Given the description of an element on the screen output the (x, y) to click on. 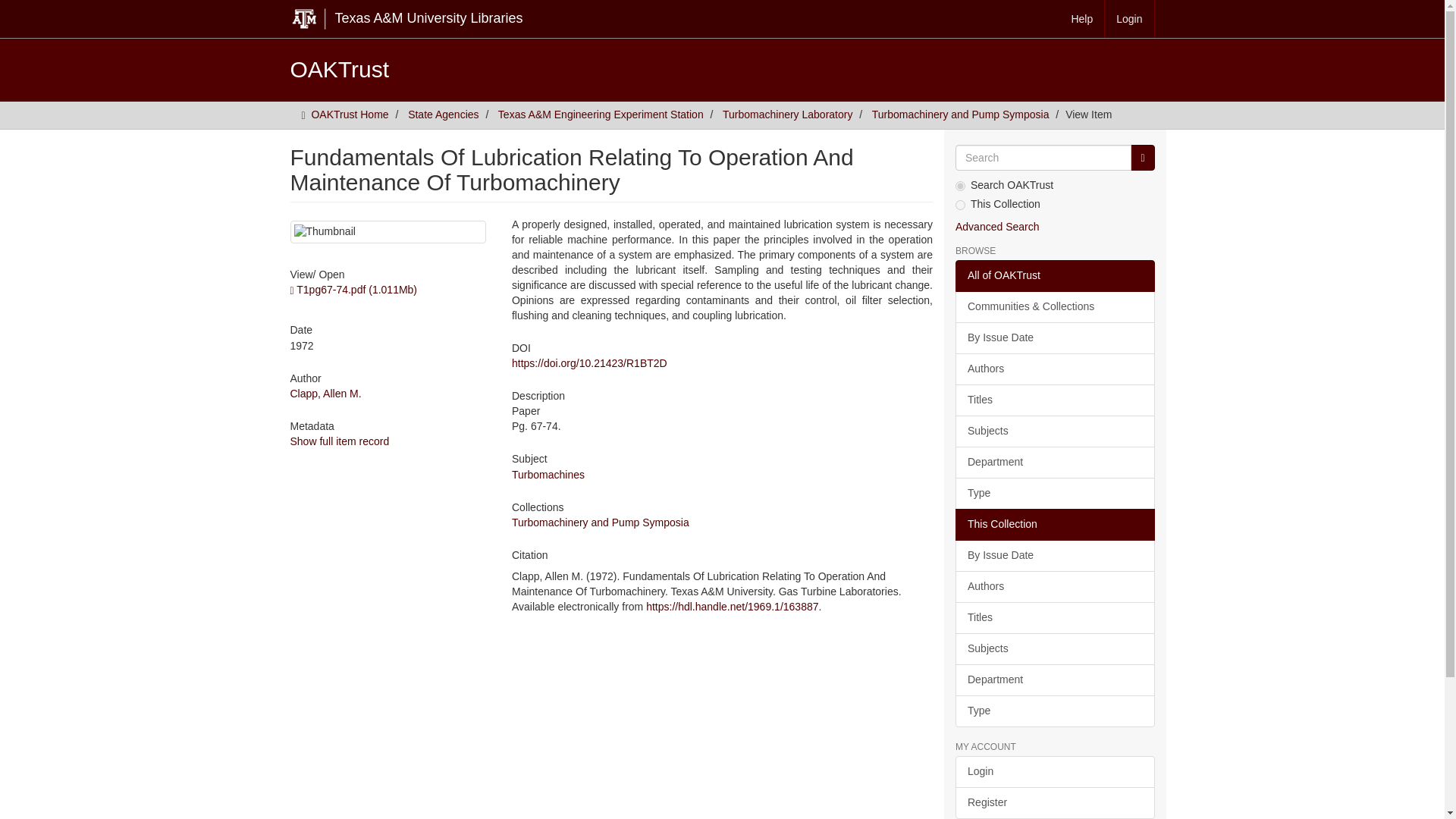
Go (1142, 157)
State Agencies (443, 114)
Turbomachinery and Pump Symposia (960, 114)
Turbomachines (548, 474)
OAKTrust Home (349, 114)
OAKTrust (338, 68)
Turbomachinery and Pump Symposia (600, 522)
Advanced Search (997, 226)
Show full item record (338, 440)
Login (1129, 18)
All of OAKTrust (1054, 275)
Help (1082, 18)
Turbomachinery Laboratory (786, 114)
Clapp, Allen M. (325, 393)
